Given the description of an element on the screen output the (x, y) to click on. 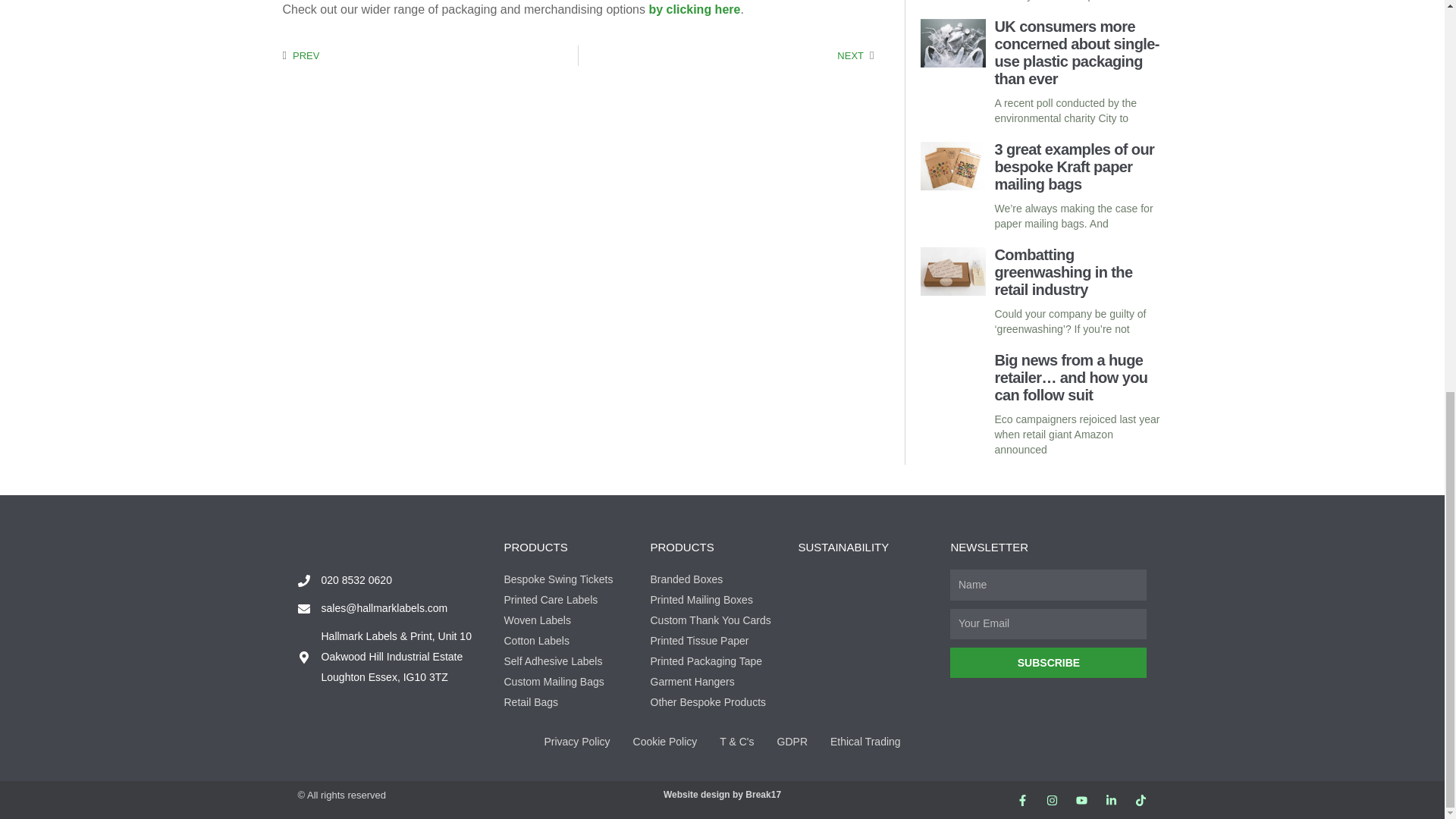
by clicking here (430, 55)
